Given the description of an element on the screen output the (x, y) to click on. 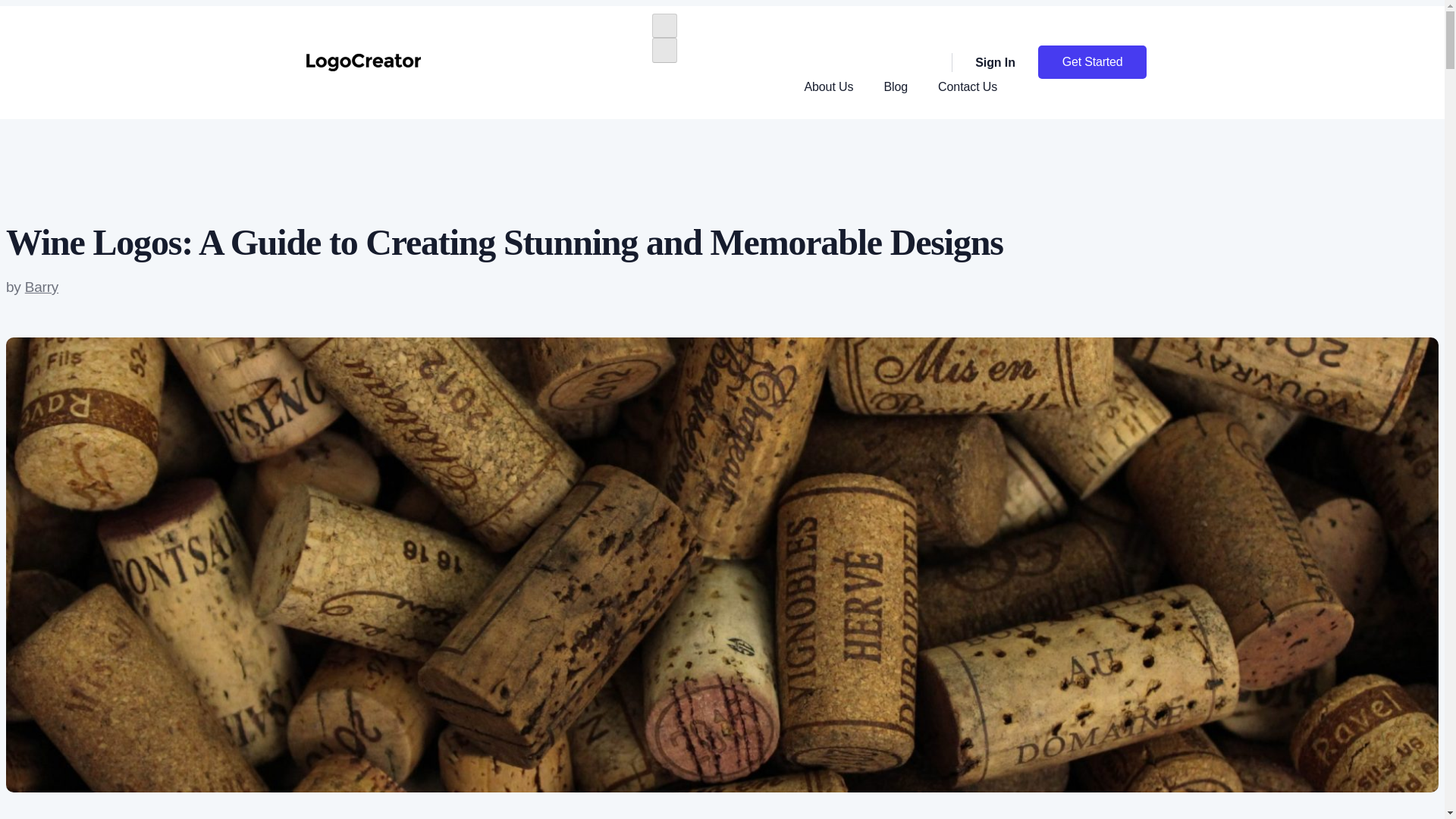
Blog (895, 87)
Get Started (1092, 61)
About Us (828, 87)
Contact Us (967, 87)
Sign In (983, 62)
